Given the description of an element on the screen output the (x, y) to click on. 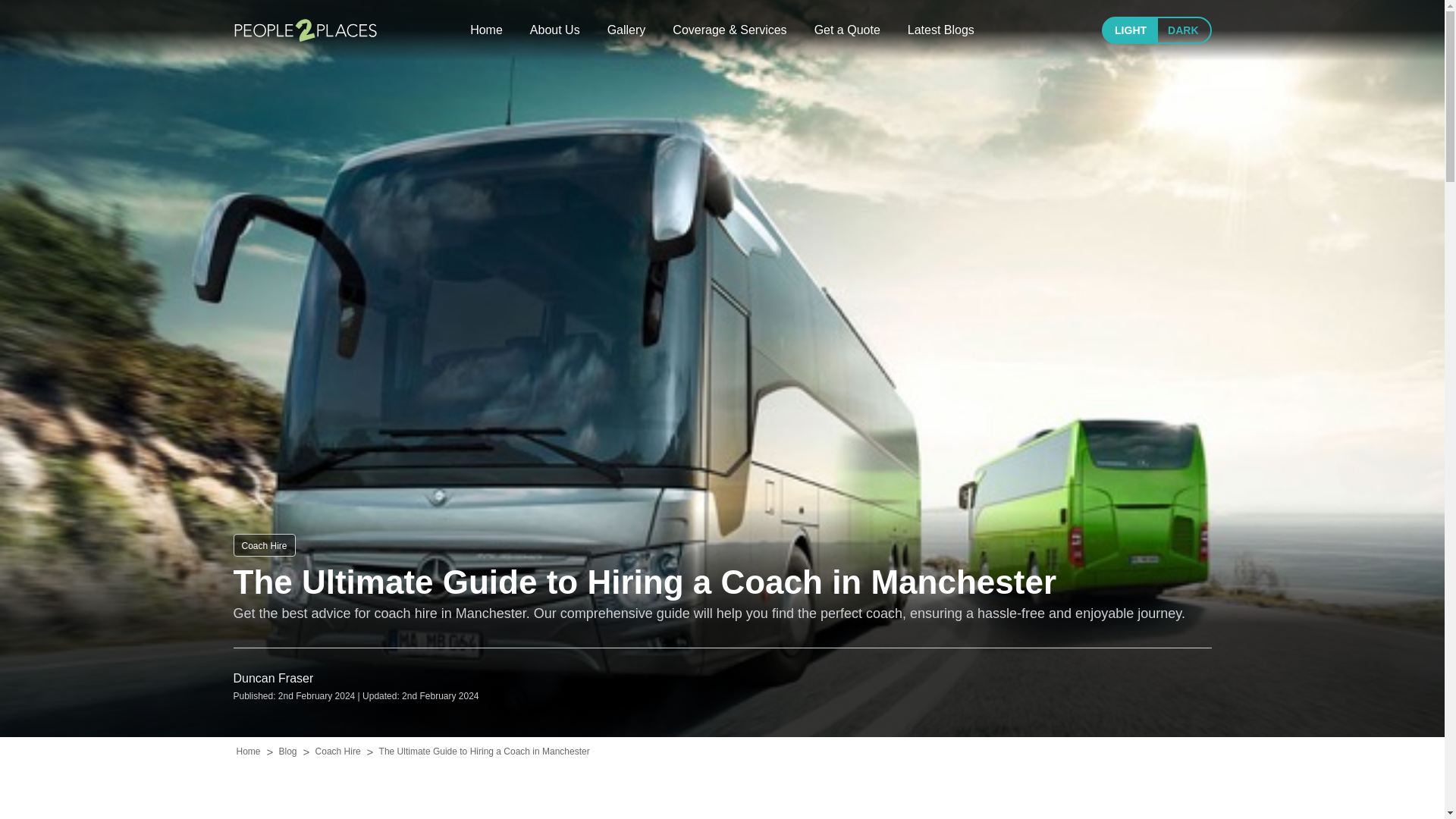
People 2 Places (304, 30)
Latest Blogs (940, 30)
Get a Quote (846, 30)
Latest Blogs (940, 30)
Get a Quote (846, 30)
